Given the description of an element on the screen output the (x, y) to click on. 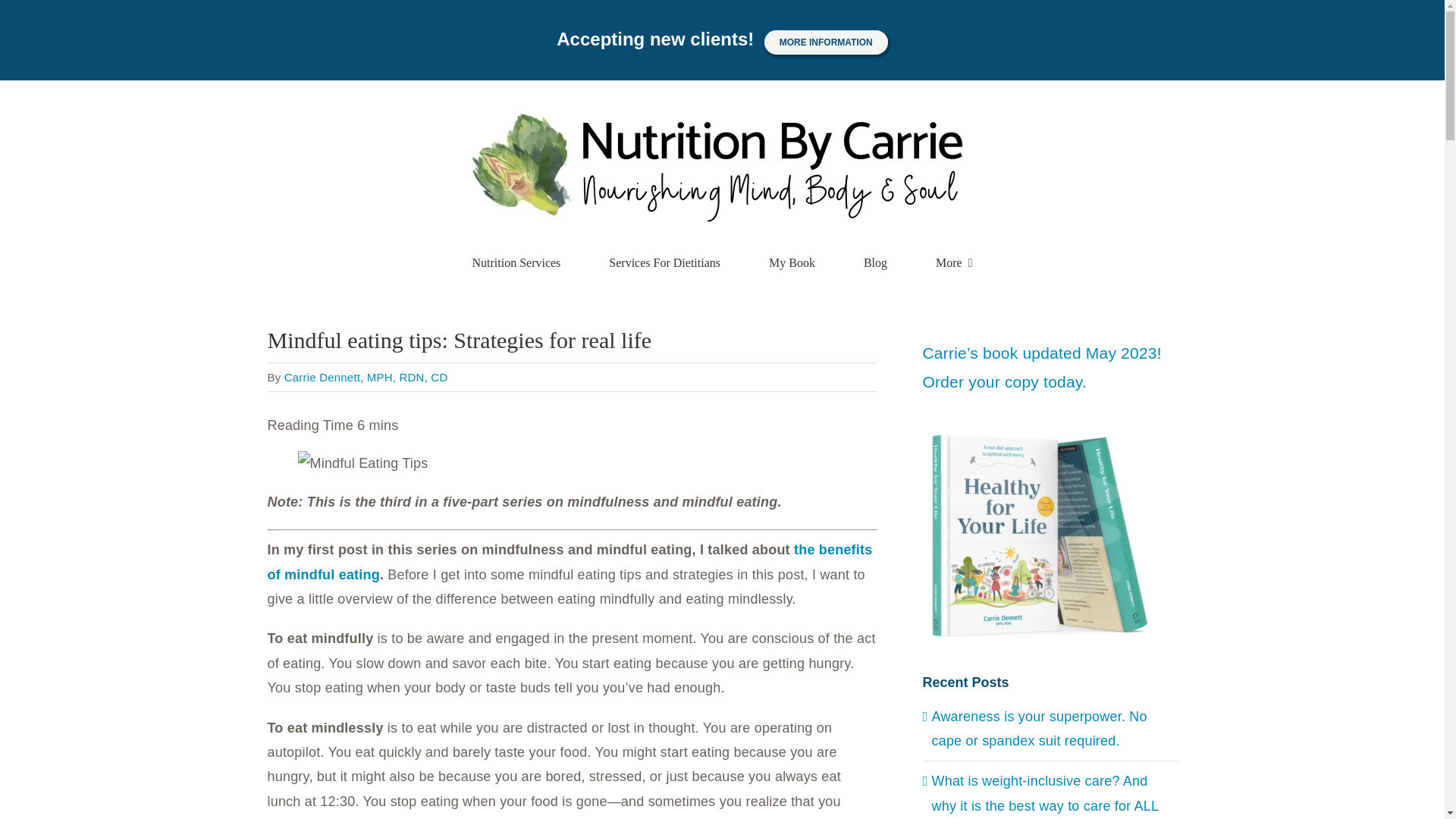
Posts by Carrie Dennett, MPH, RDN, CD (365, 377)
the benefits of mindful eating (569, 561)
Nutrition Services (515, 263)
Carrie Dennett, MPH, RDN, CD (365, 377)
My Book (791, 263)
MORE INFORMATION (826, 42)
Services For Dietitians (664, 263)
